Given the description of an element on the screen output the (x, y) to click on. 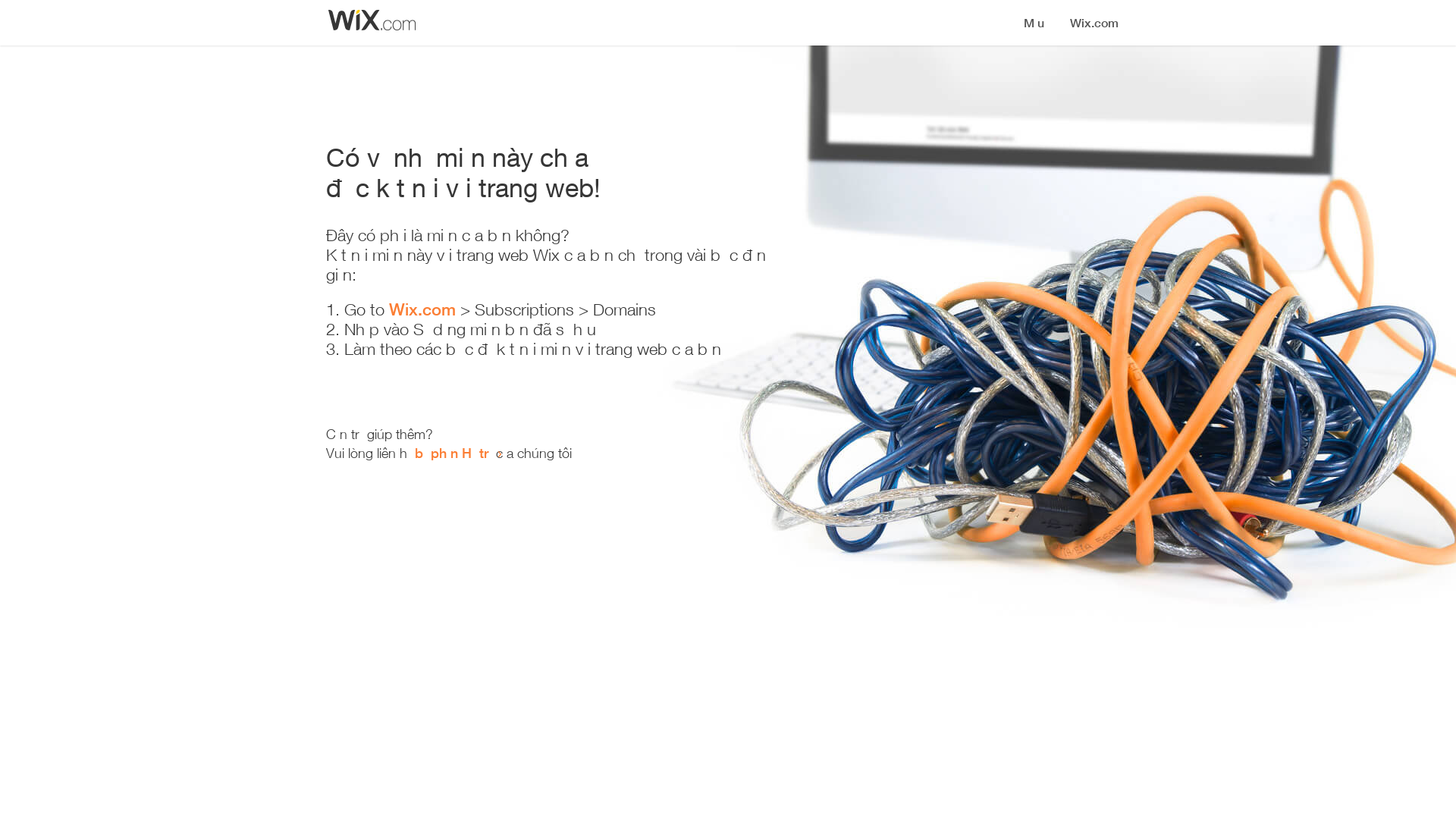
Wix.com Element type: text (422, 309)
